Given the description of an element on the screen output the (x, y) to click on. 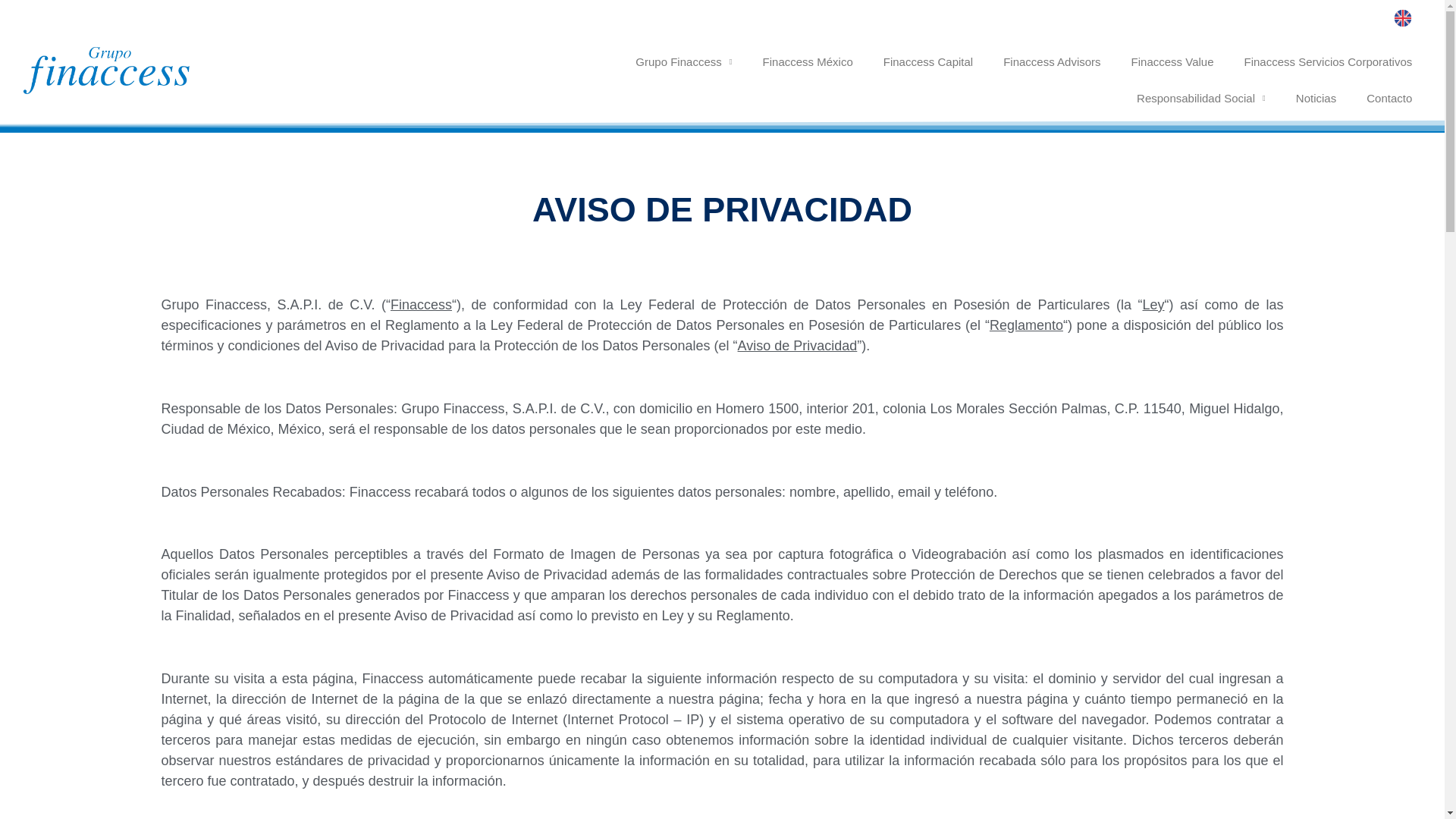
Finaccess Advisors (1051, 62)
Finaccess Value (1172, 62)
Noticias (1316, 98)
Grupo Finaccess (683, 62)
Contacto (1388, 98)
Responsabilidad Social (1201, 98)
Finaccess Servicios Corporativos (1328, 62)
Language switcher : English (1406, 16)
Finaccess Capital (927, 62)
